Given the description of an element on the screen output the (x, y) to click on. 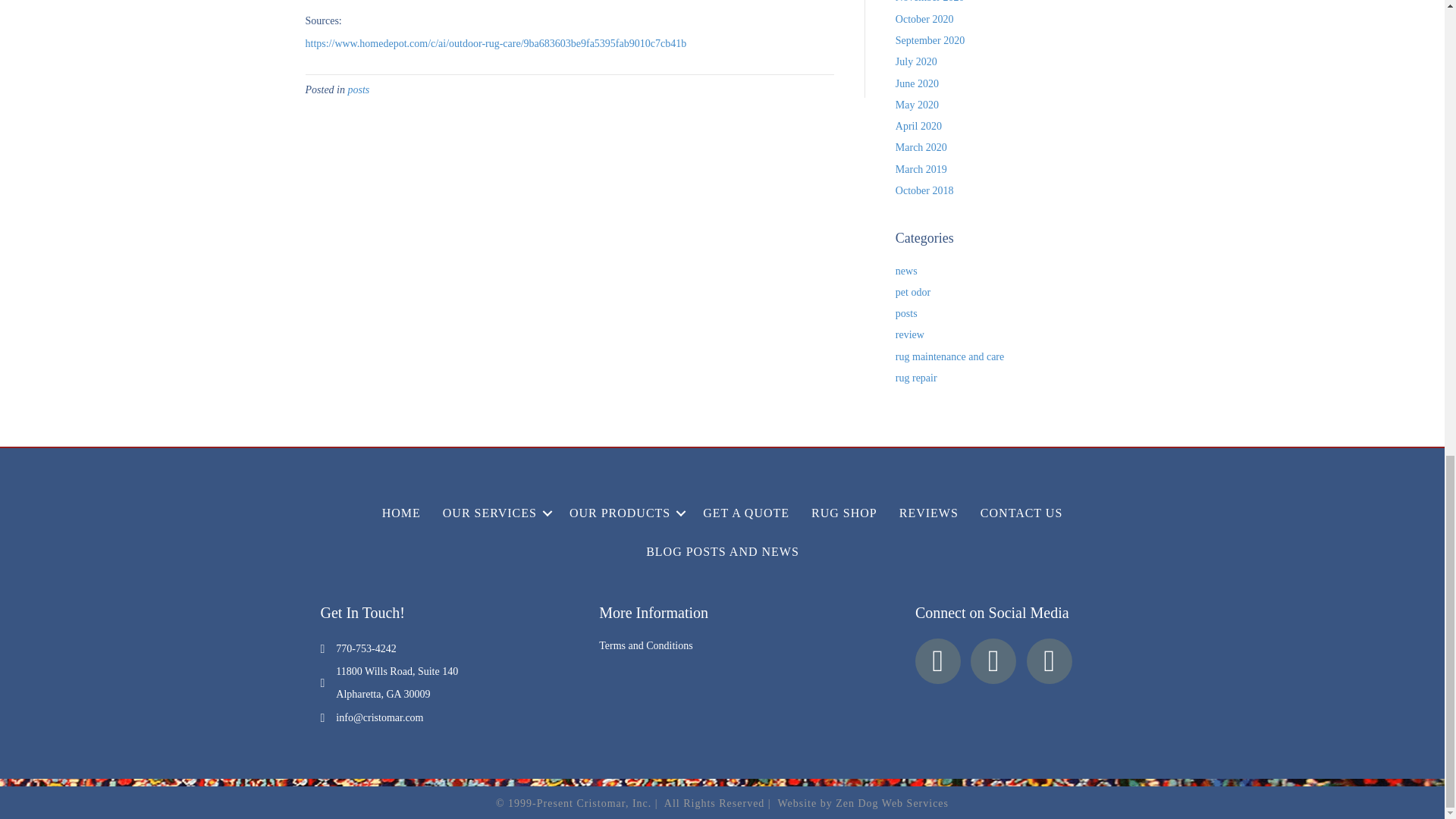
Pinterest (993, 660)
Facebook (937, 660)
Instagram (1048, 660)
posts (358, 89)
